Given the description of an element on the screen output the (x, y) to click on. 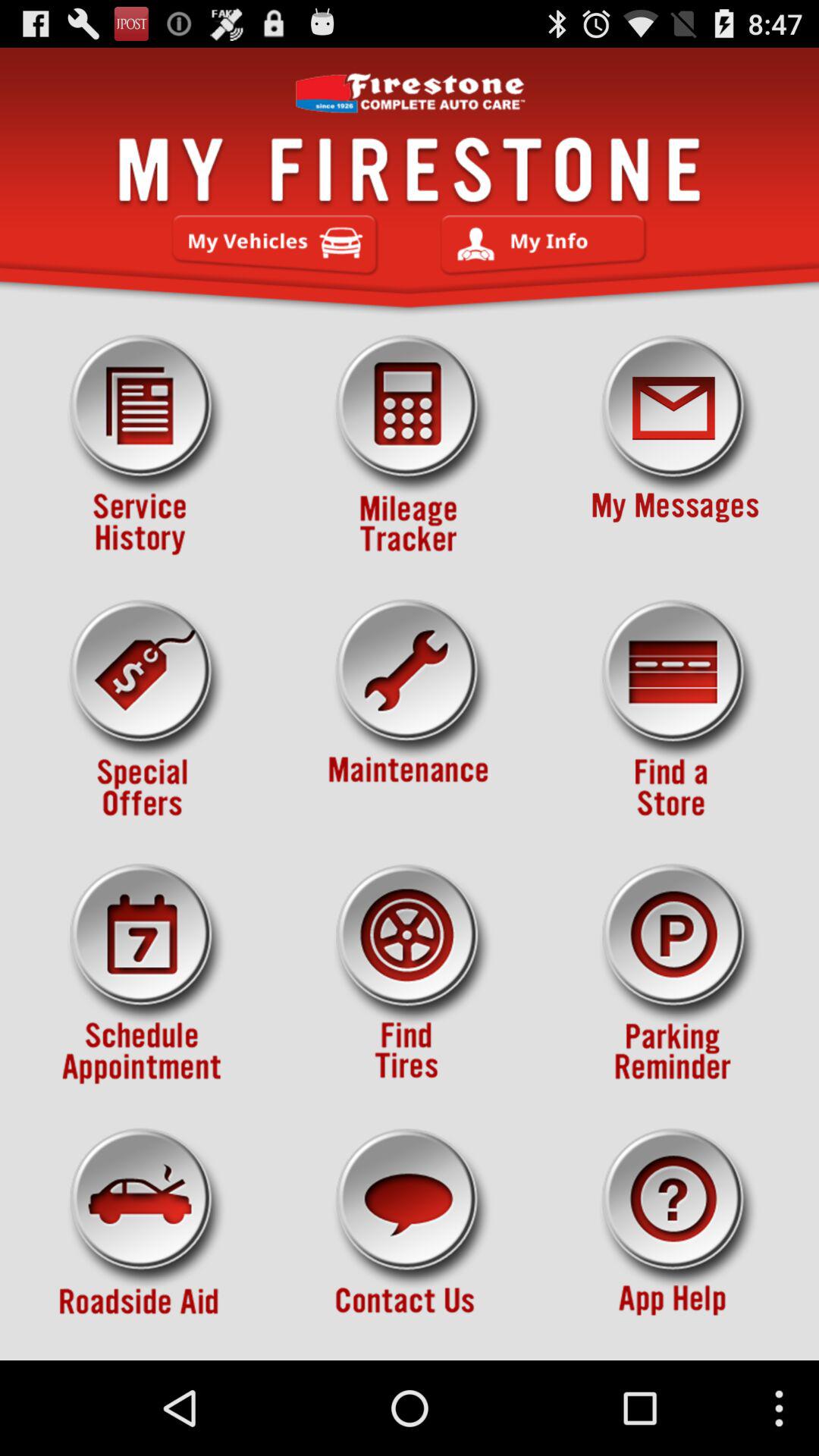
the app help bar (675, 1238)
